Given the description of an element on the screen output the (x, y) to click on. 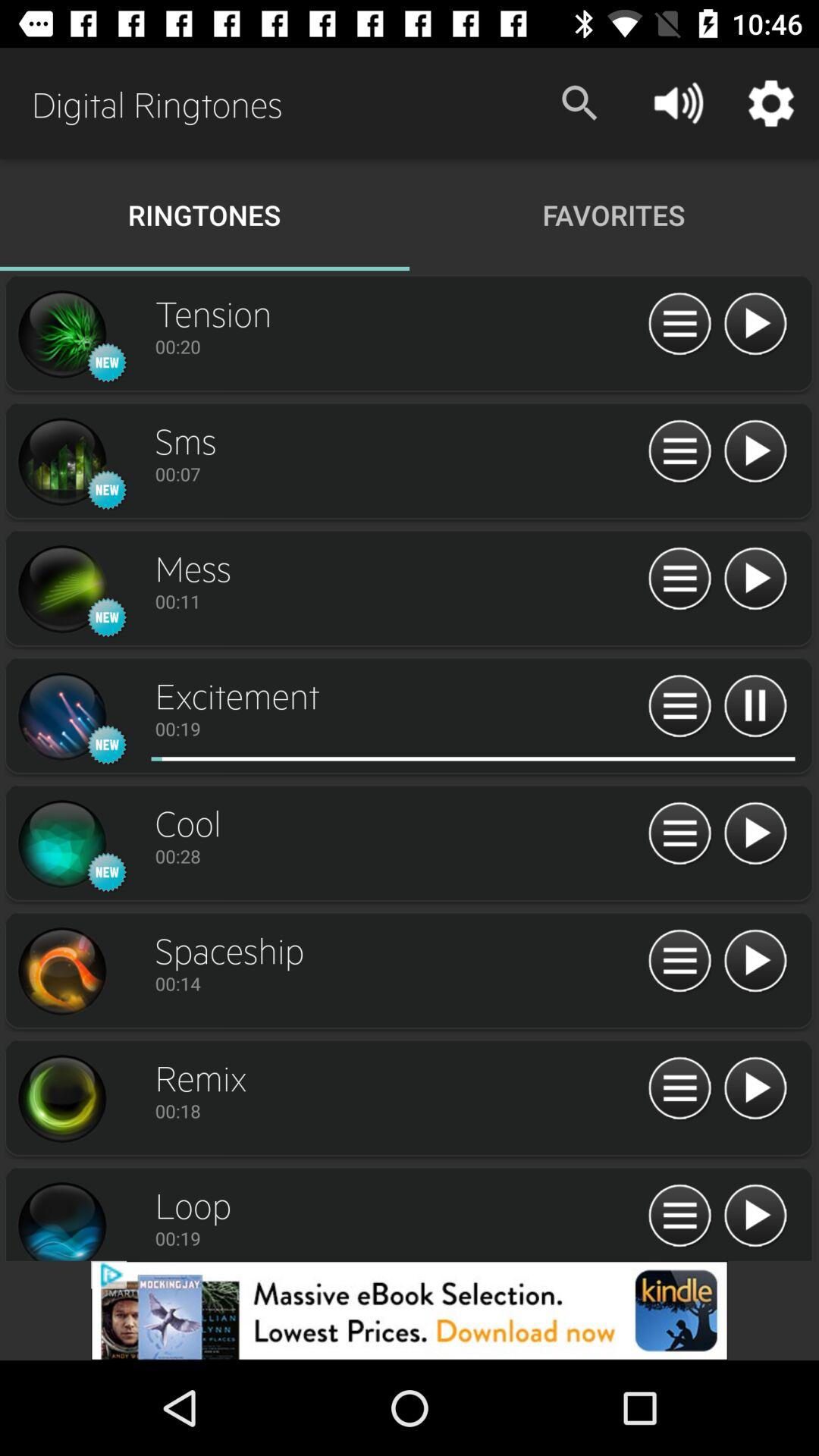
expand item (679, 834)
